Given the description of an element on the screen output the (x, y) to click on. 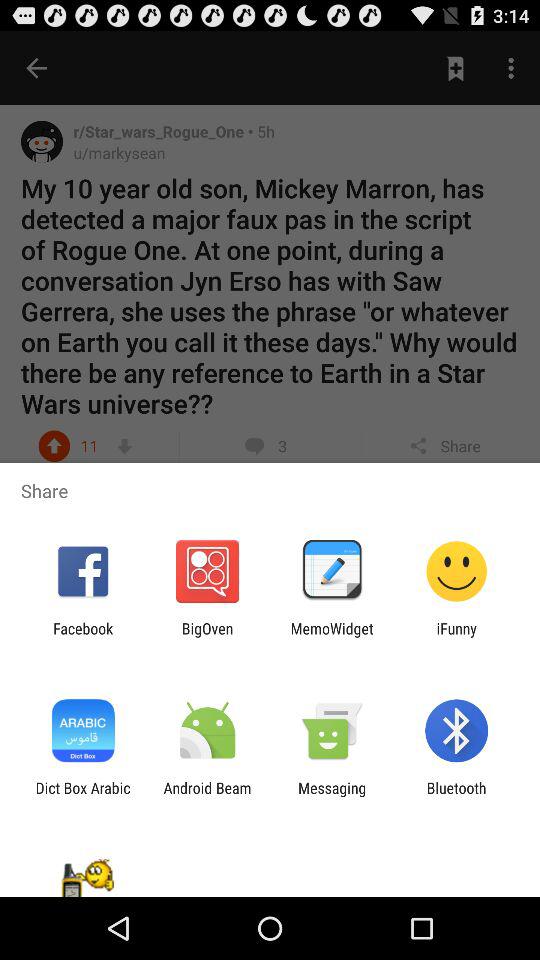
open the app to the left of messaging (207, 796)
